Given the description of an element on the screen output the (x, y) to click on. 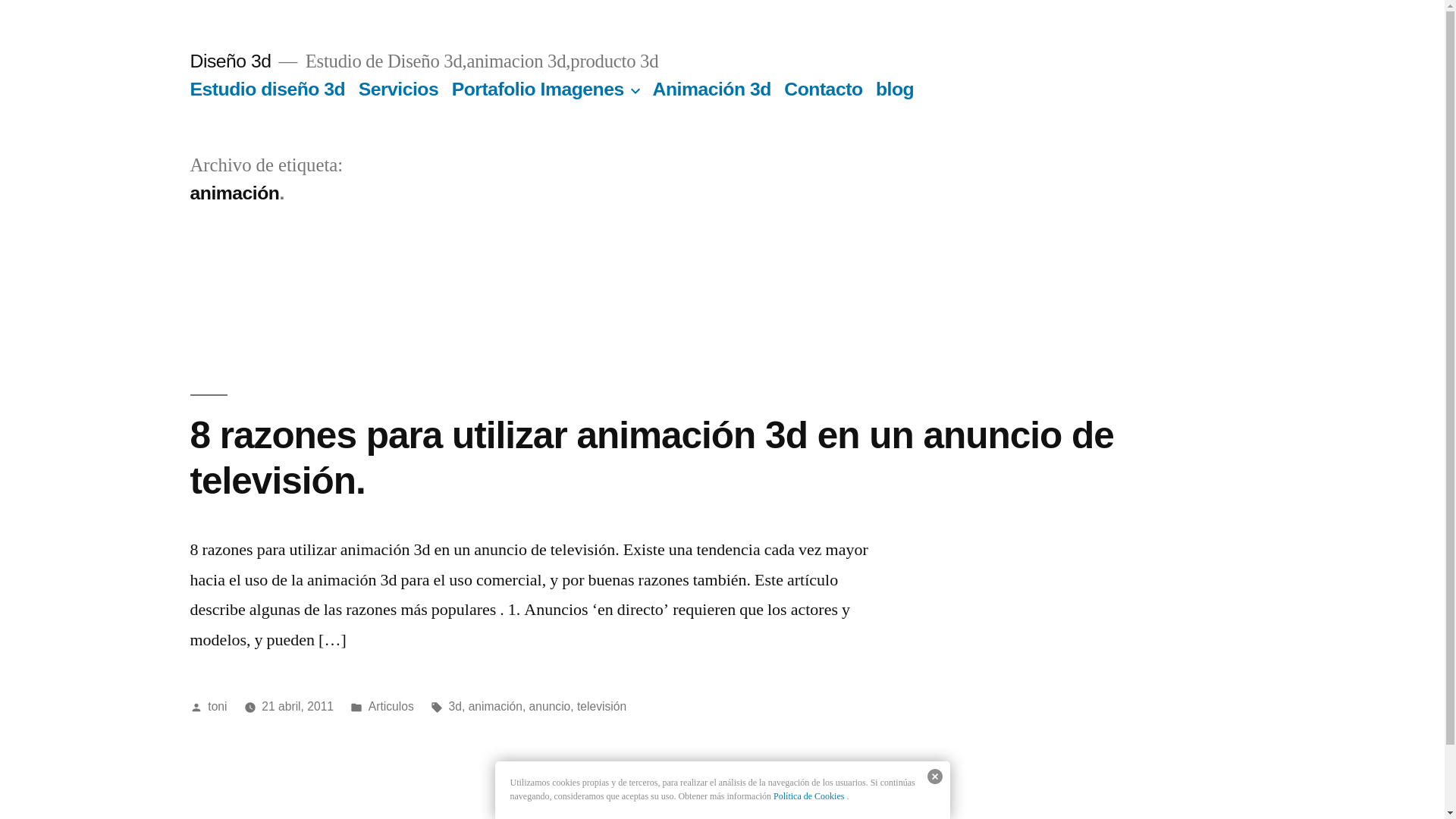
Portafolio Imagenes Element type: text (537, 88)
3d Element type: text (454, 705)
anuncio Element type: text (550, 705)
Servicios Element type: text (398, 88)
Articulos Element type: text (391, 705)
blog Element type: text (894, 88)
21 abril, 2011 Element type: text (297, 705)
Contacto Element type: text (823, 88)
toni Element type: text (216, 705)
